Given the description of an element on the screen output the (x, y) to click on. 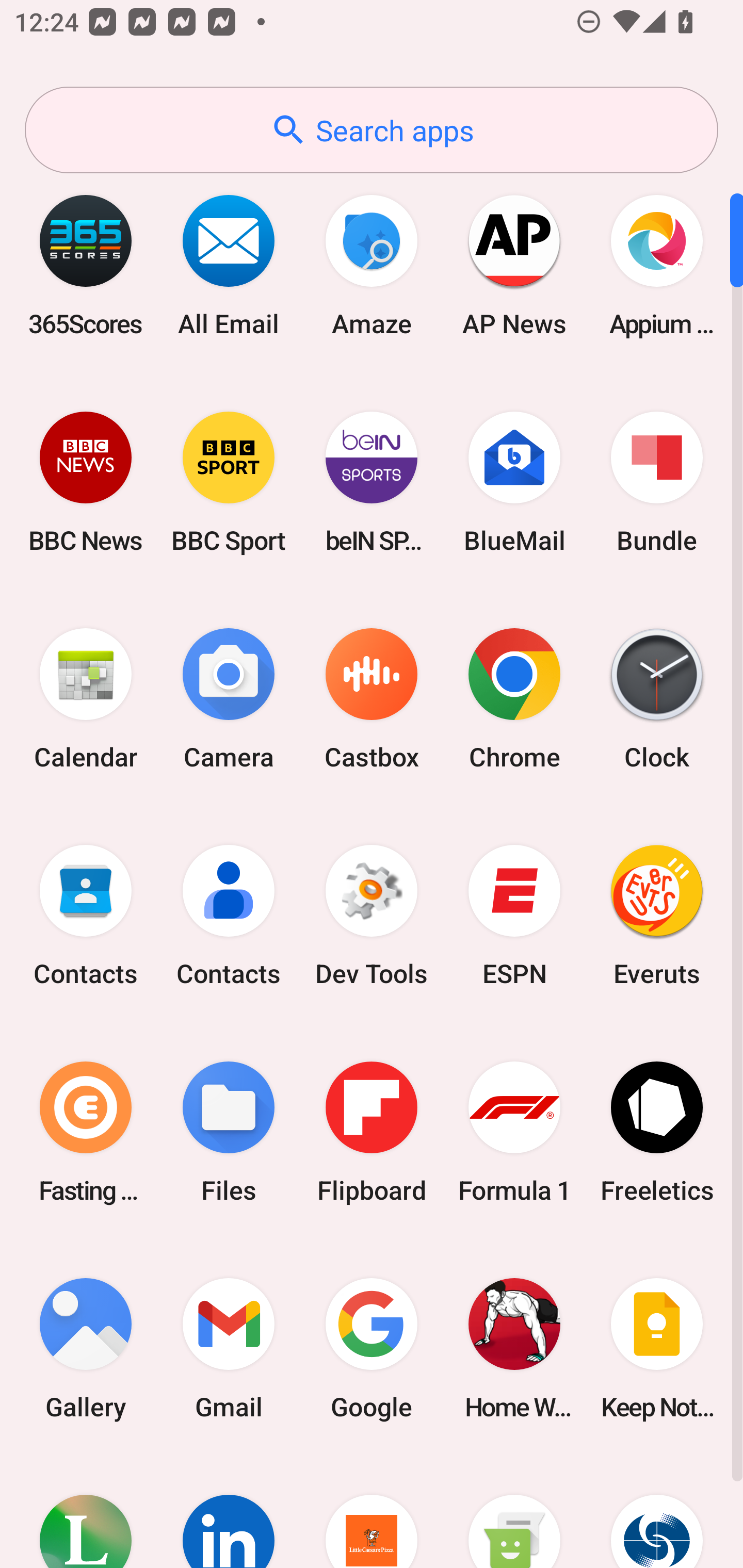
  Search apps (371, 130)
365Scores (85, 264)
All Email (228, 264)
Amaze (371, 264)
AP News (514, 264)
Appium Settings (656, 264)
BBC News (85, 482)
BBC Sport (228, 482)
beIN SPORTS (371, 482)
BlueMail (514, 482)
Bundle (656, 482)
Calendar (85, 699)
Camera (228, 699)
Castbox (371, 699)
Chrome (514, 699)
Clock (656, 699)
Contacts (85, 915)
Contacts (228, 915)
Dev Tools (371, 915)
ESPN (514, 915)
Everuts (656, 915)
Fasting Coach (85, 1131)
Files (228, 1131)
Flipboard (371, 1131)
Formula 1 (514, 1131)
Freeletics (656, 1131)
Gallery (85, 1348)
Gmail (228, 1348)
Google (371, 1348)
Home Workout (514, 1348)
Keep Notes (656, 1348)
